Given the description of an element on the screen output the (x, y) to click on. 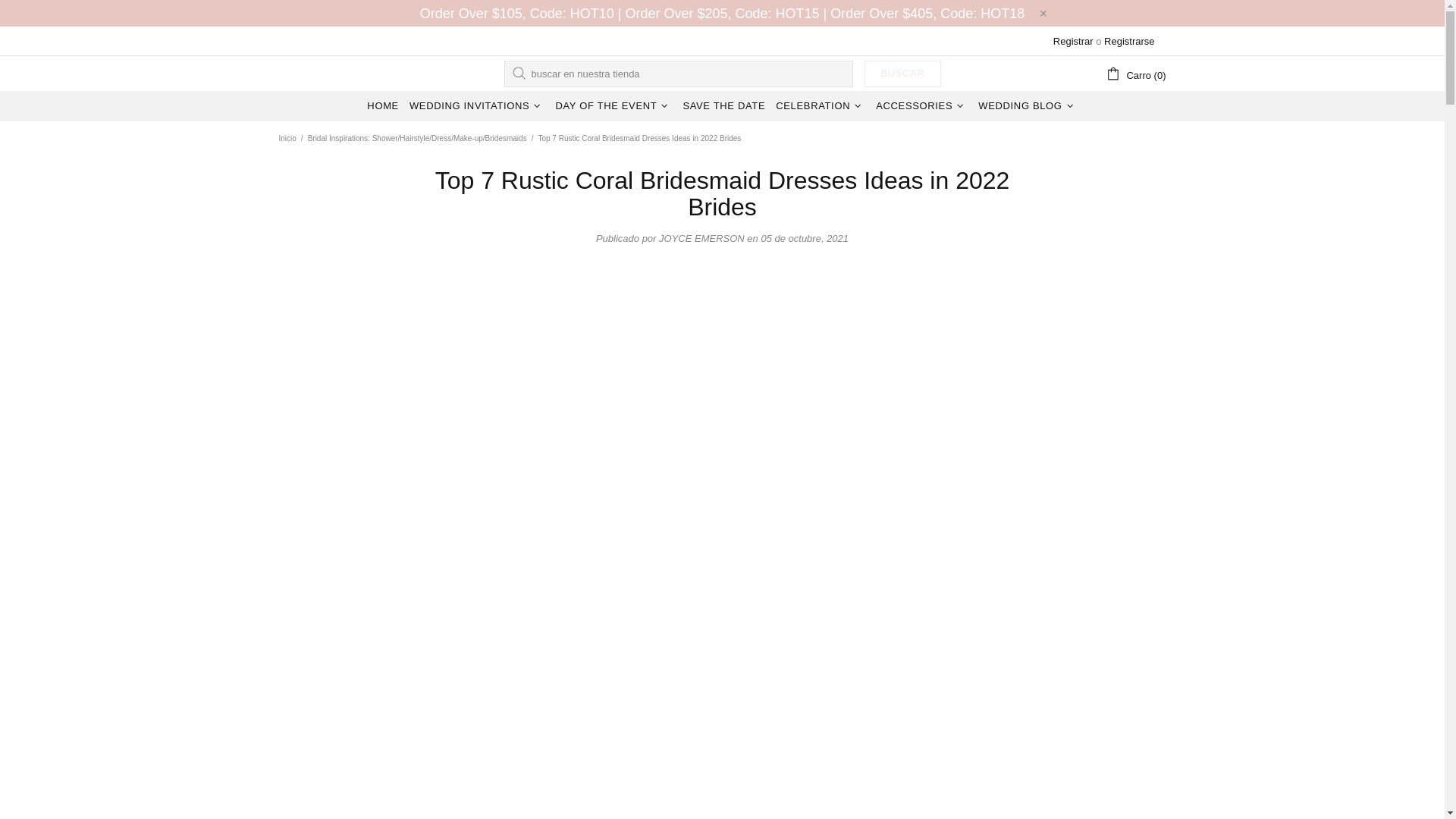
DAY OF THE EVENT (613, 105)
Registrar (1072, 41)
BUSCAR (902, 73)
CELEBRATION (820, 105)
HOME (382, 105)
SAVE THE DATE (723, 105)
Clear Wedding Invites (317, 73)
WEDDING INVITATIONS (477, 105)
Registrarse (1128, 41)
ACCESSORIES (921, 105)
